Given the description of an element on the screen output the (x, y) to click on. 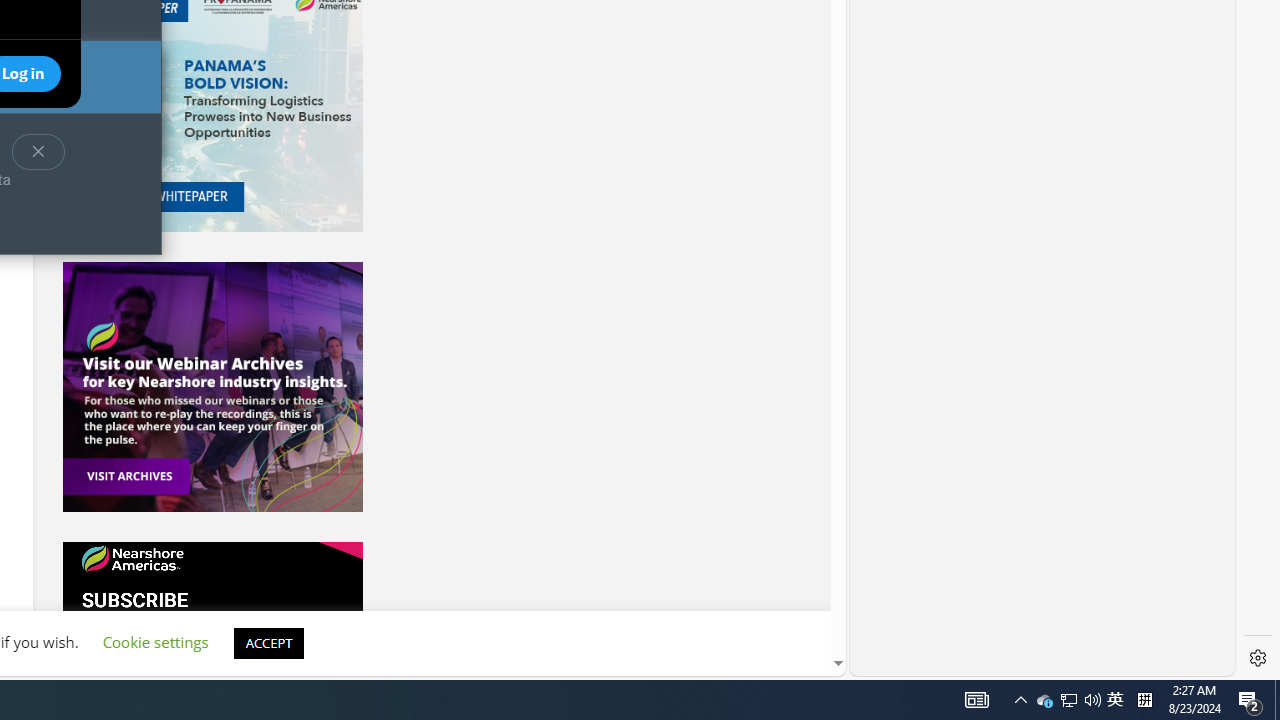
ACCEPT (268, 642)
